Given the description of an element on the screen output the (x, y) to click on. 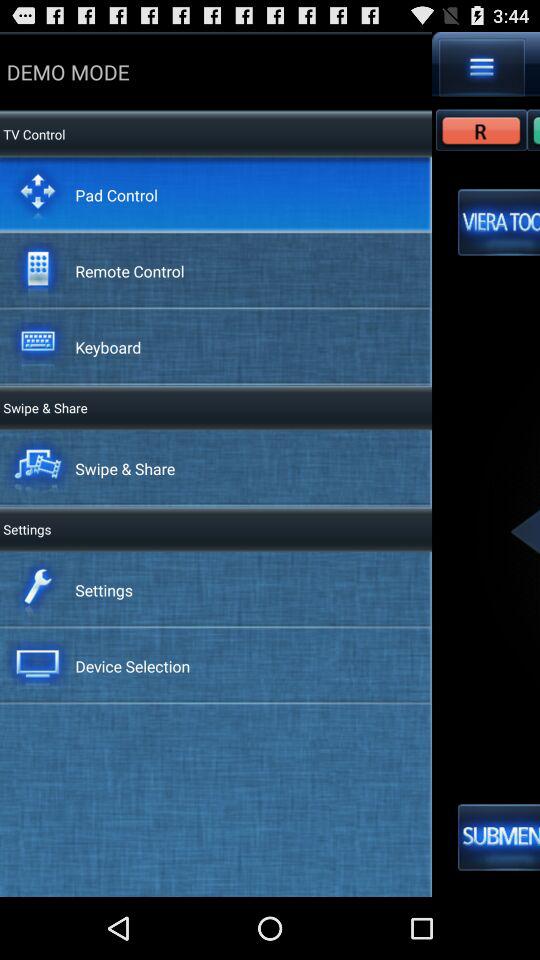
submit button (499, 837)
